Given the description of an element on the screen output the (x, y) to click on. 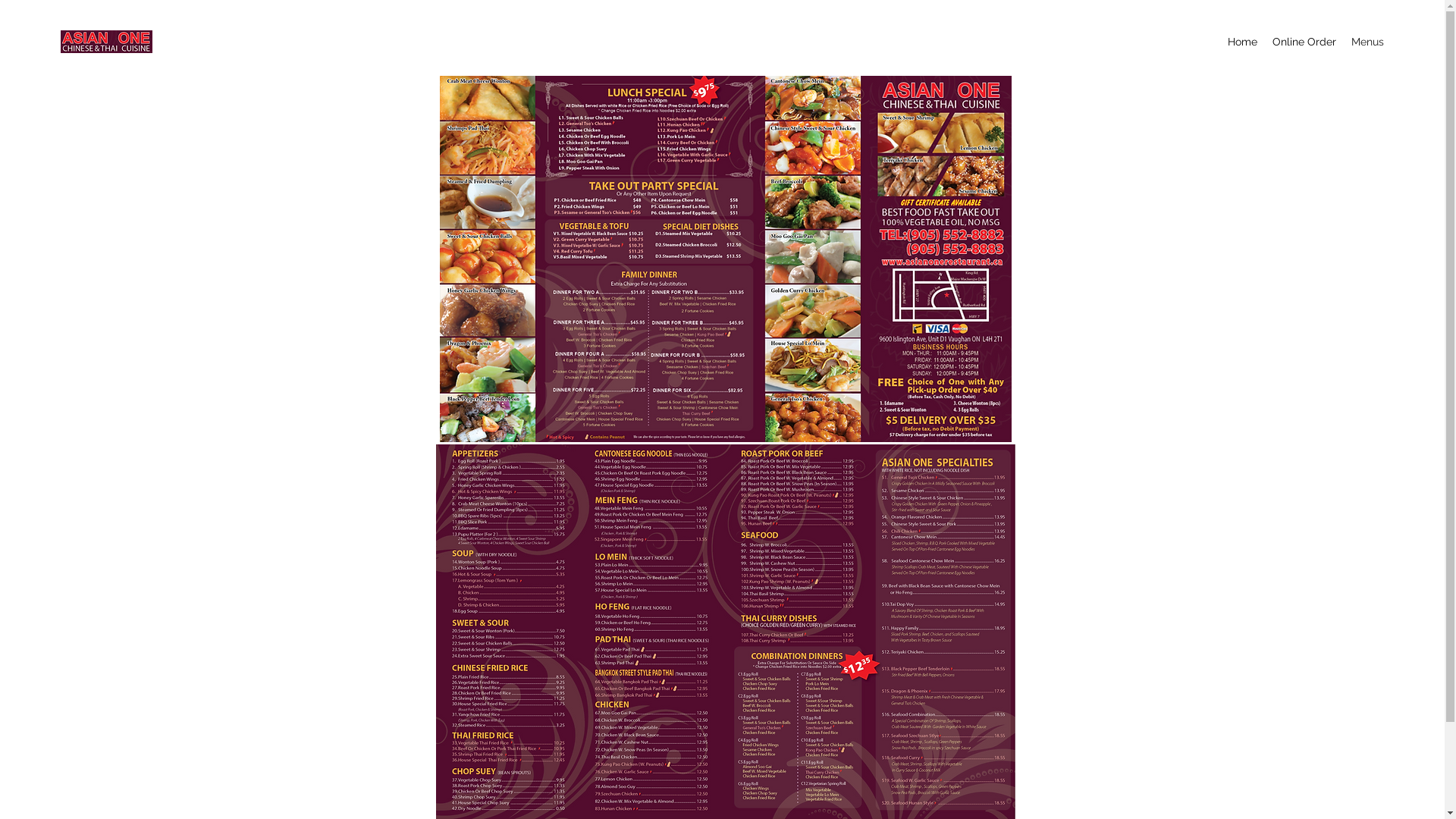
Online Order Element type: text (1303, 41)
Menus Element type: hover (721, 225)
Menus Element type: text (1367, 41)
Screen Shot 2022-06-26 at 1.35.12 PM.png Element type: hover (725, 257)
Home Element type: text (1242, 41)
